Given the description of an element on the screen output the (x, y) to click on. 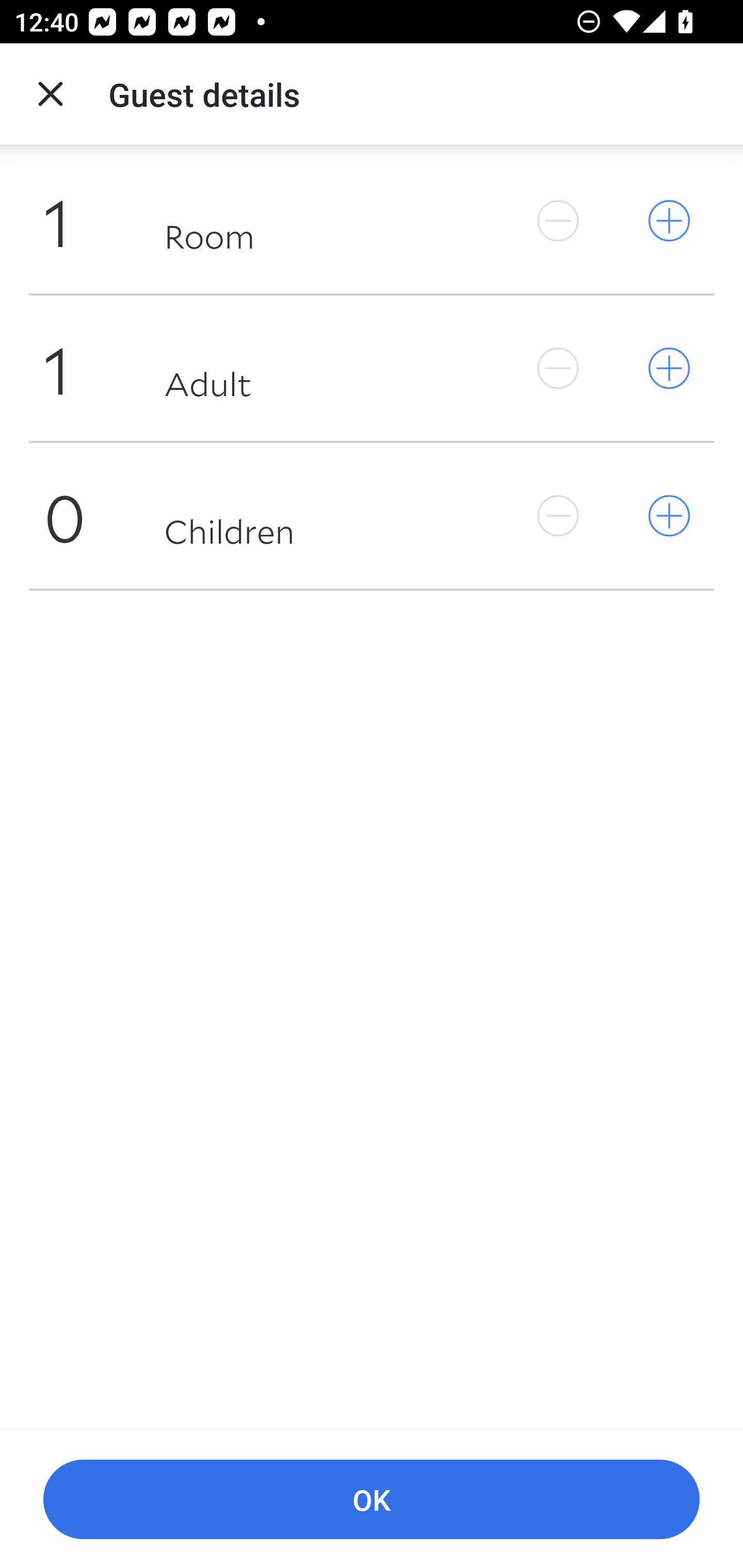
OK (371, 1499)
